Given the description of an element on the screen output the (x, y) to click on. 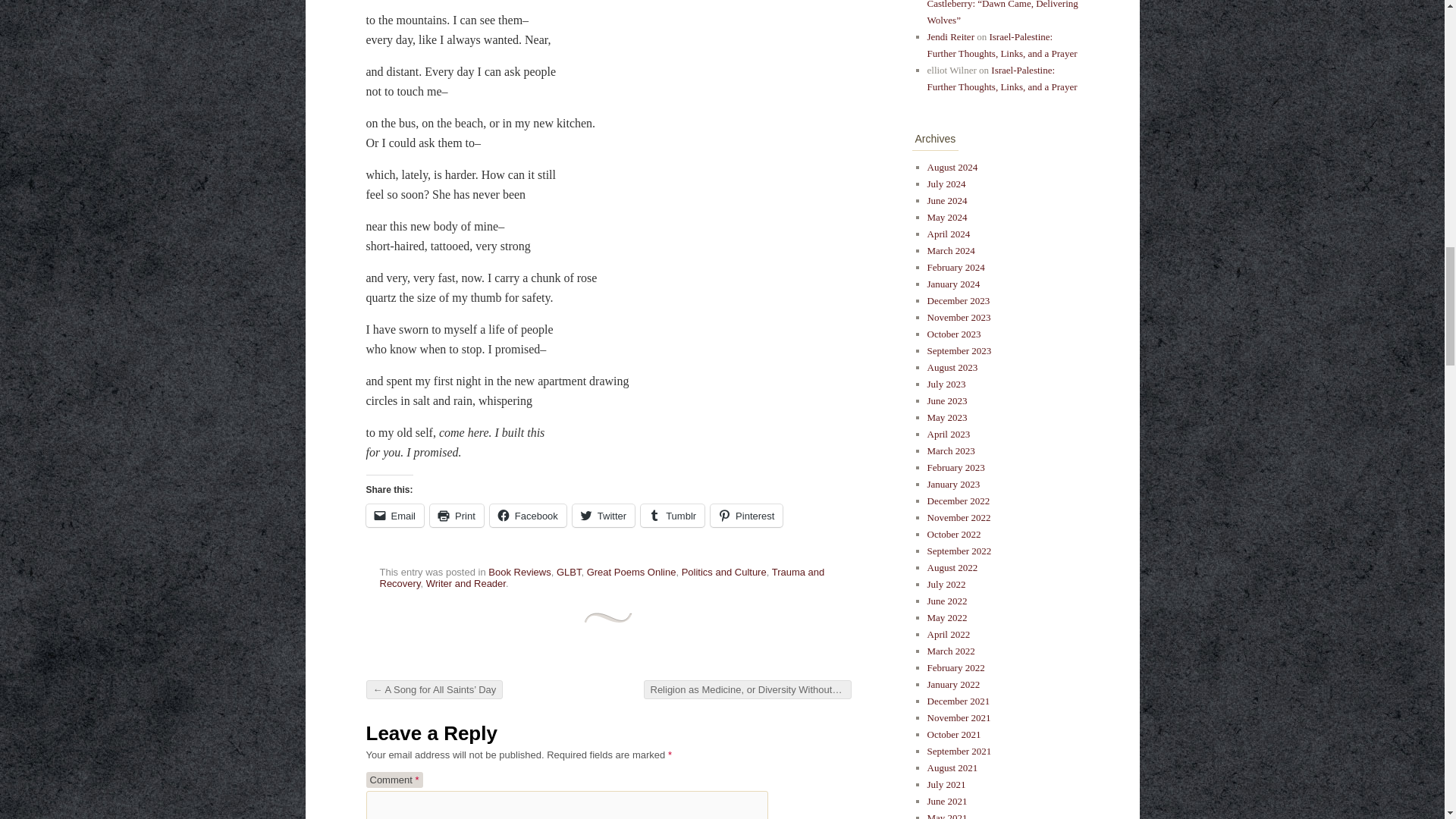
Tumblr (672, 515)
Print (456, 515)
GLBT (568, 572)
Click to share on Tumblr (672, 515)
Click to print (456, 515)
Great Poems Online (631, 572)
Trauma and Recovery (601, 577)
Click to share on Pinterest (746, 515)
Book Reviews (518, 572)
Writer and Reader (465, 583)
